Given the description of an element on the screen output the (x, y) to click on. 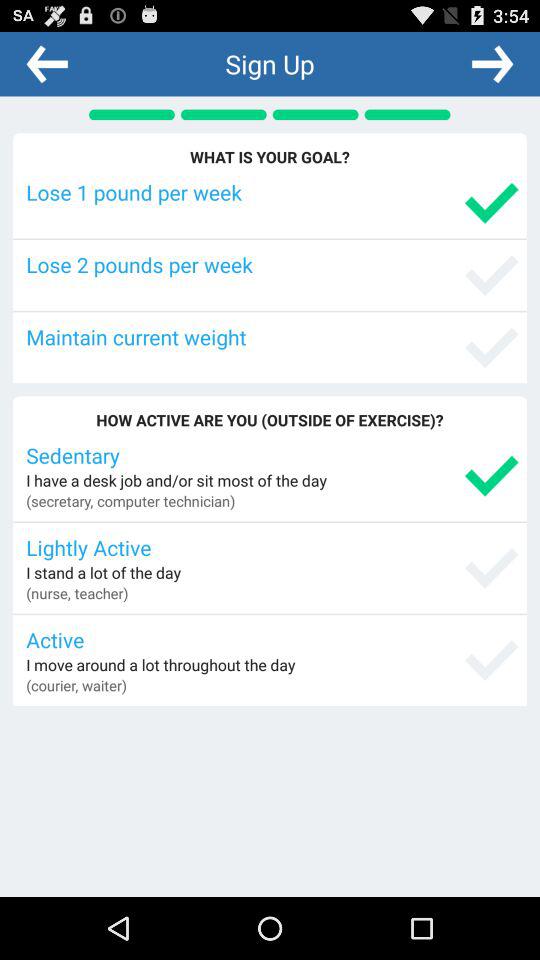
click the app next to the sign up icon (47, 63)
